Given the description of an element on the screen output the (x, y) to click on. 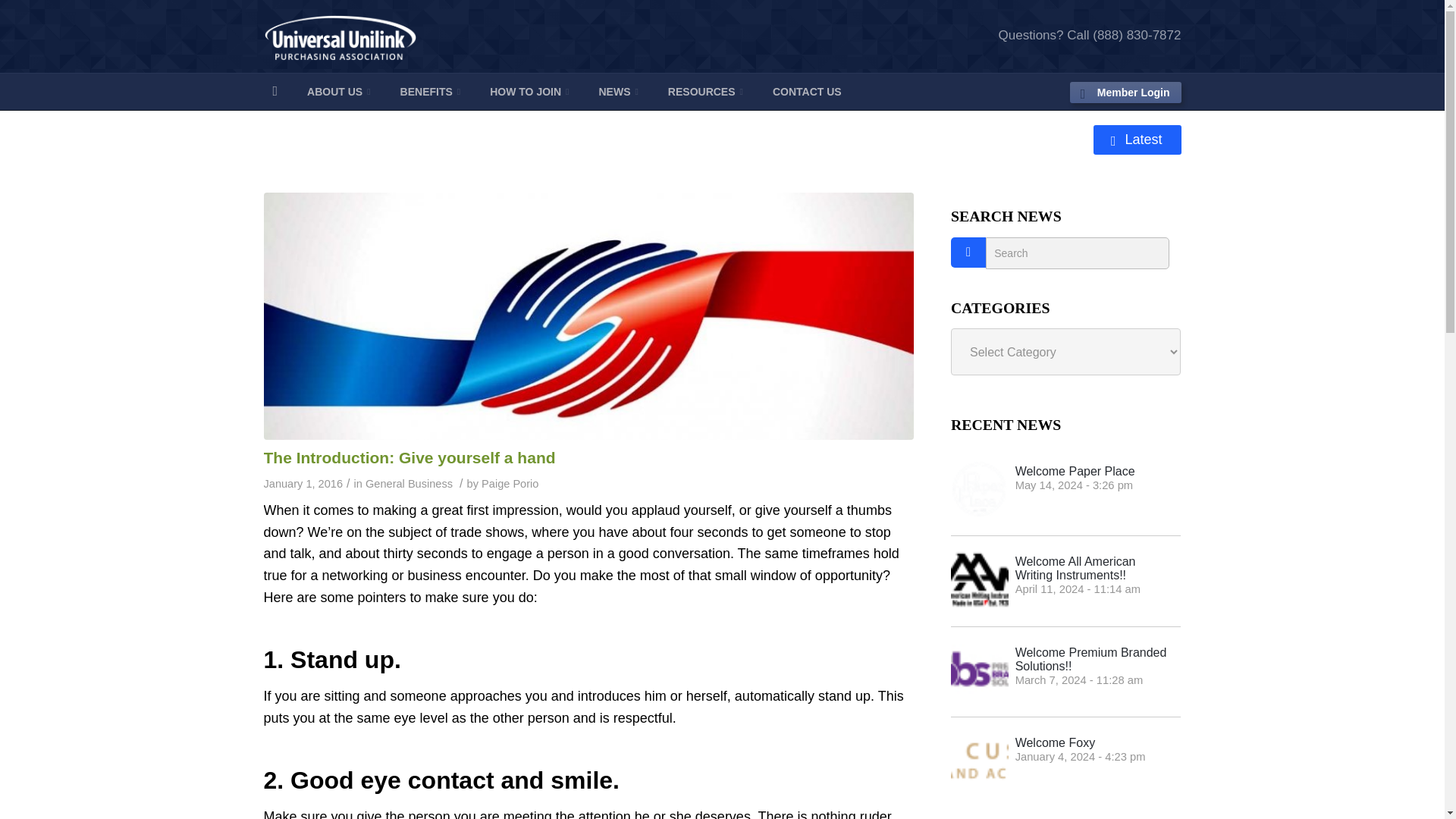
Welcome Paper Place (1065, 490)
HOW TO JOIN (529, 91)
ABOUT US (1065, 490)
Latest (339, 91)
Posts by Paige Porio (1136, 139)
The Introduction: Give yourself a hand (509, 483)
CONTACT US (409, 457)
NEWS (806, 91)
